Given the description of an element on the screen output the (x, y) to click on. 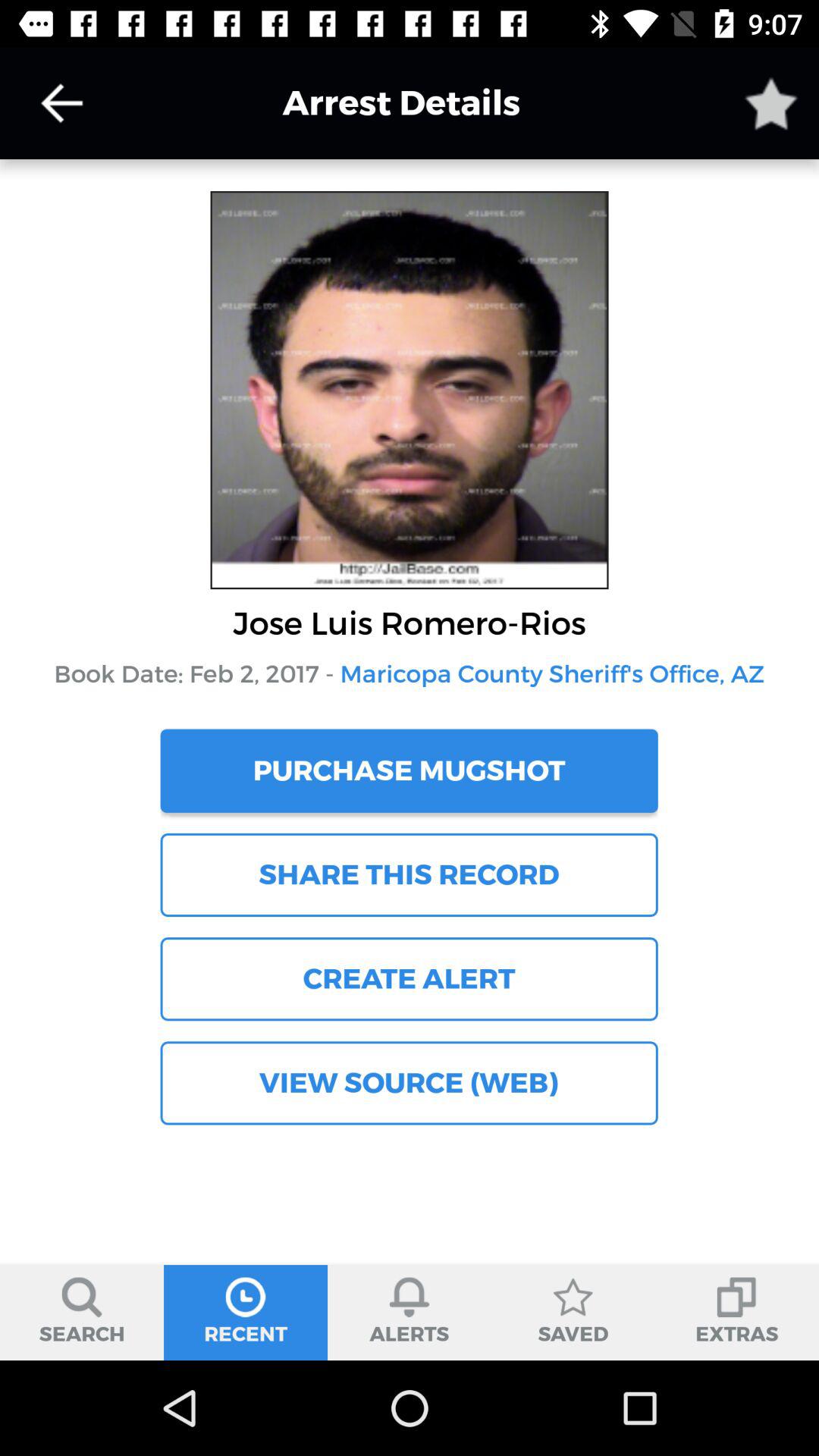
swipe until the share this record icon (409, 874)
